Given the description of an element on the screen output the (x, y) to click on. 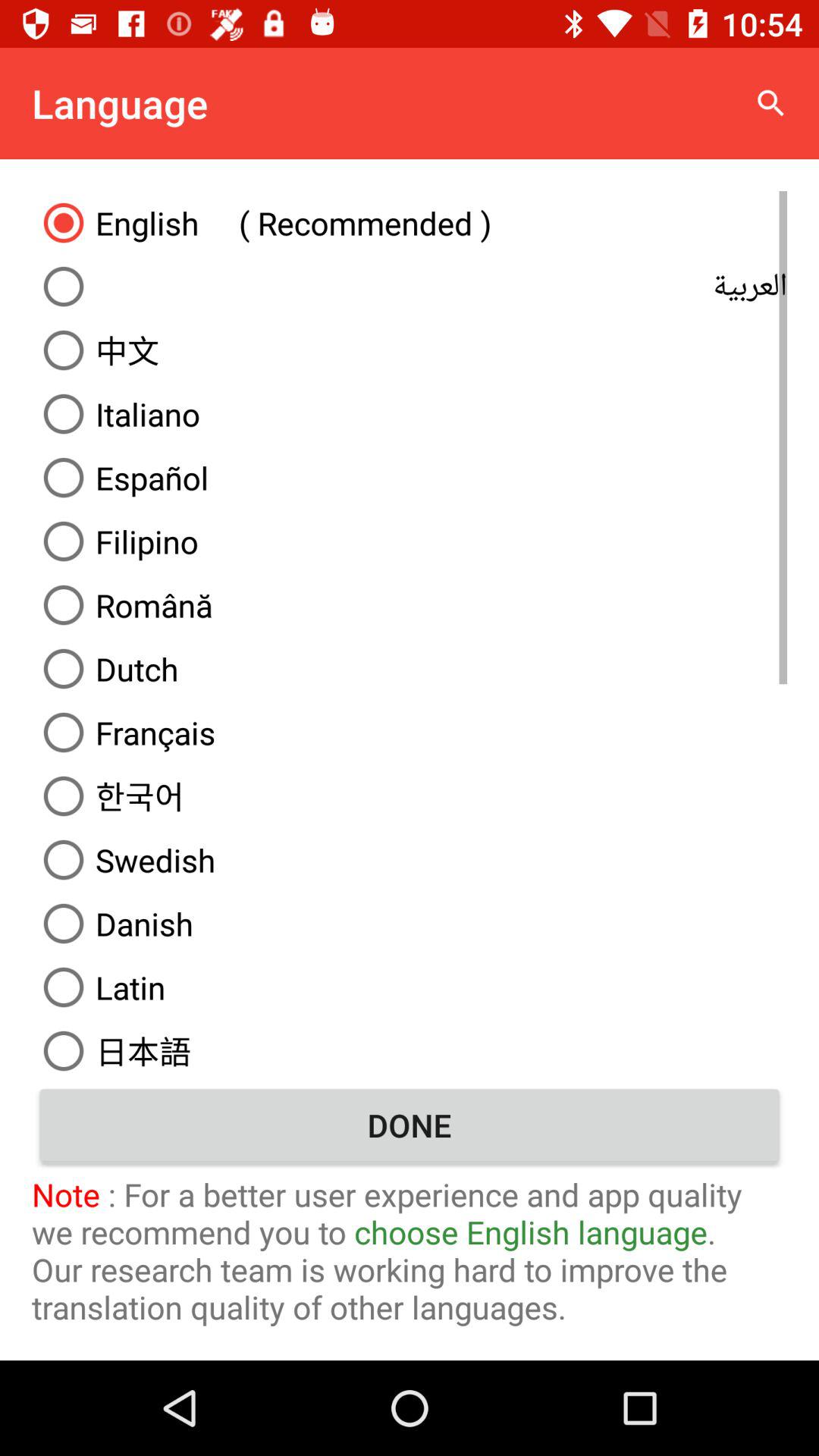
select item below filipino item (409, 605)
